Given the description of an element on the screen output the (x, y) to click on. 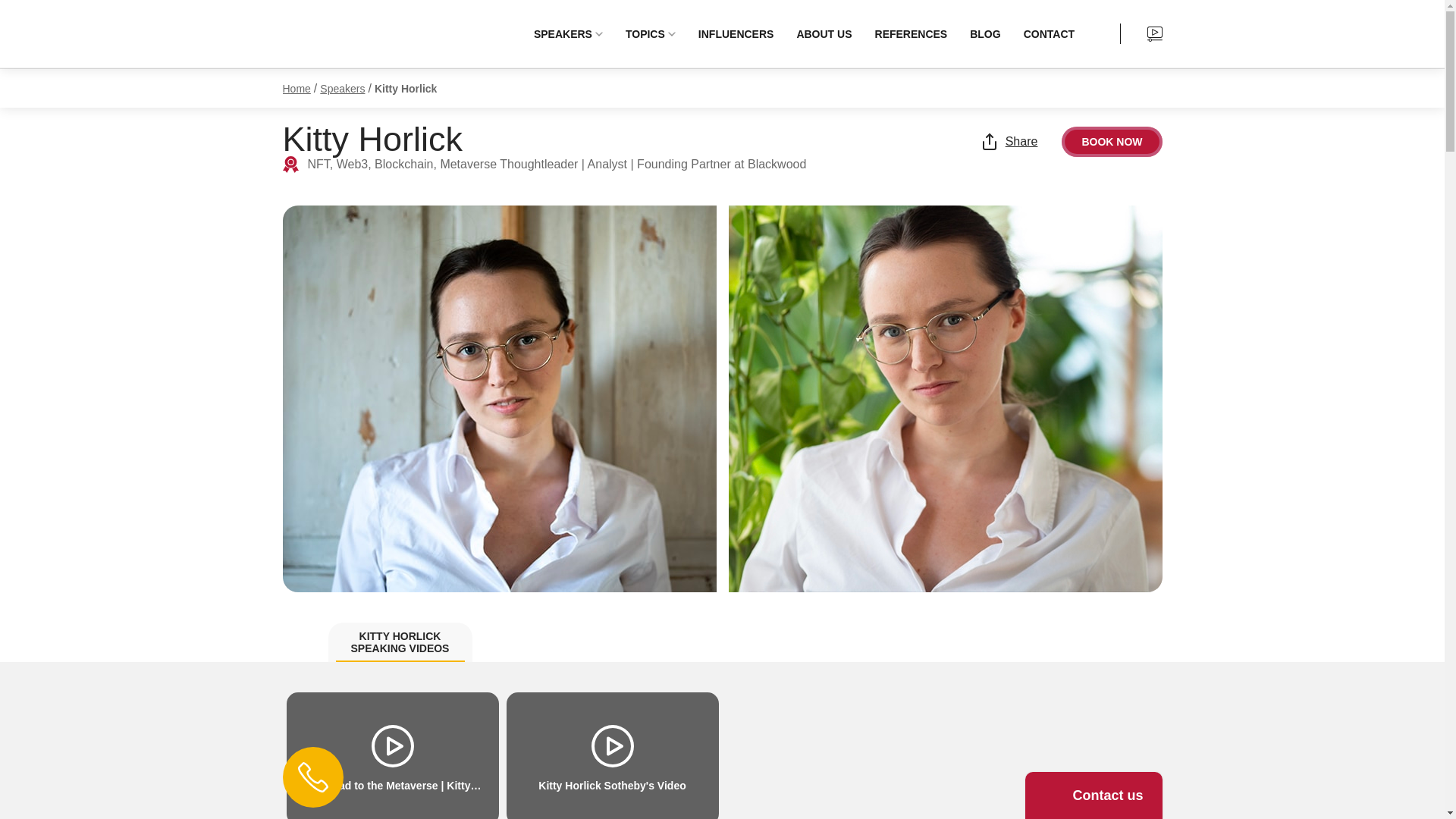
REFERENCES (911, 33)
SPEAKERS (567, 33)
TOPICS (649, 33)
ABOUT US (824, 33)
INFLUENCERS (735, 33)
Kitty Horlick Sotheby's Video (612, 755)
CONTACT (1048, 33)
